Given the description of an element on the screen output the (x, y) to click on. 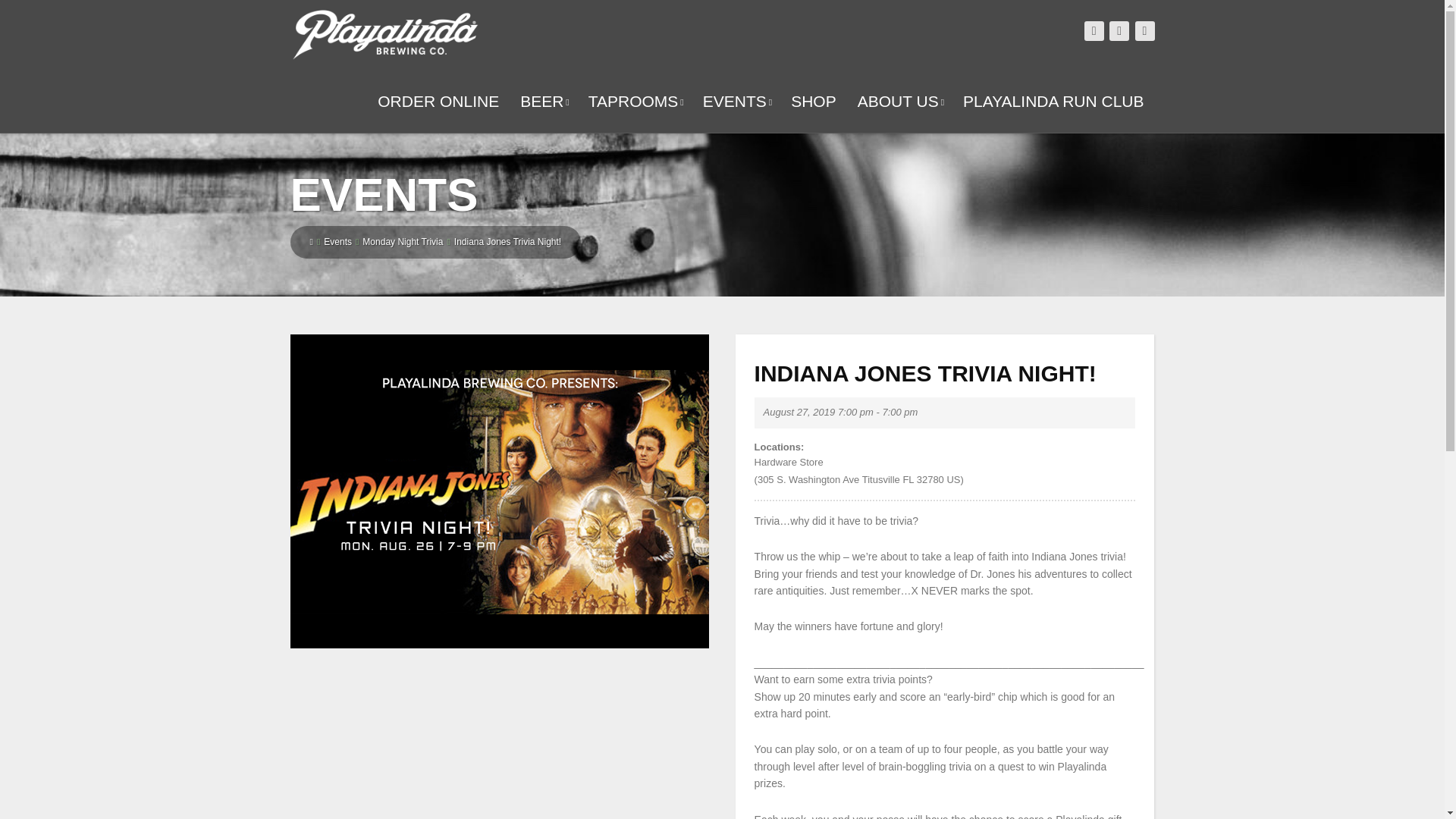
August 27, 2019 7:00 pm - 7:00 pm (840, 412)
ORDER ONLINE (438, 101)
PLAYALINDA RUN CLUB (1053, 101)
Playalinda Brewing Co. (384, 33)
ABOUT US (899, 101)
BEER (543, 101)
Go to the Monday Night Trivia Event Category archives. (402, 241)
SHOP (813, 101)
TAPROOMS (634, 101)
Hardware Store (944, 462)
Monday Night Trivia (402, 241)
Events (337, 241)
EVENTS (736, 101)
Go to Events. (337, 241)
